Given the description of an element on the screen output the (x, y) to click on. 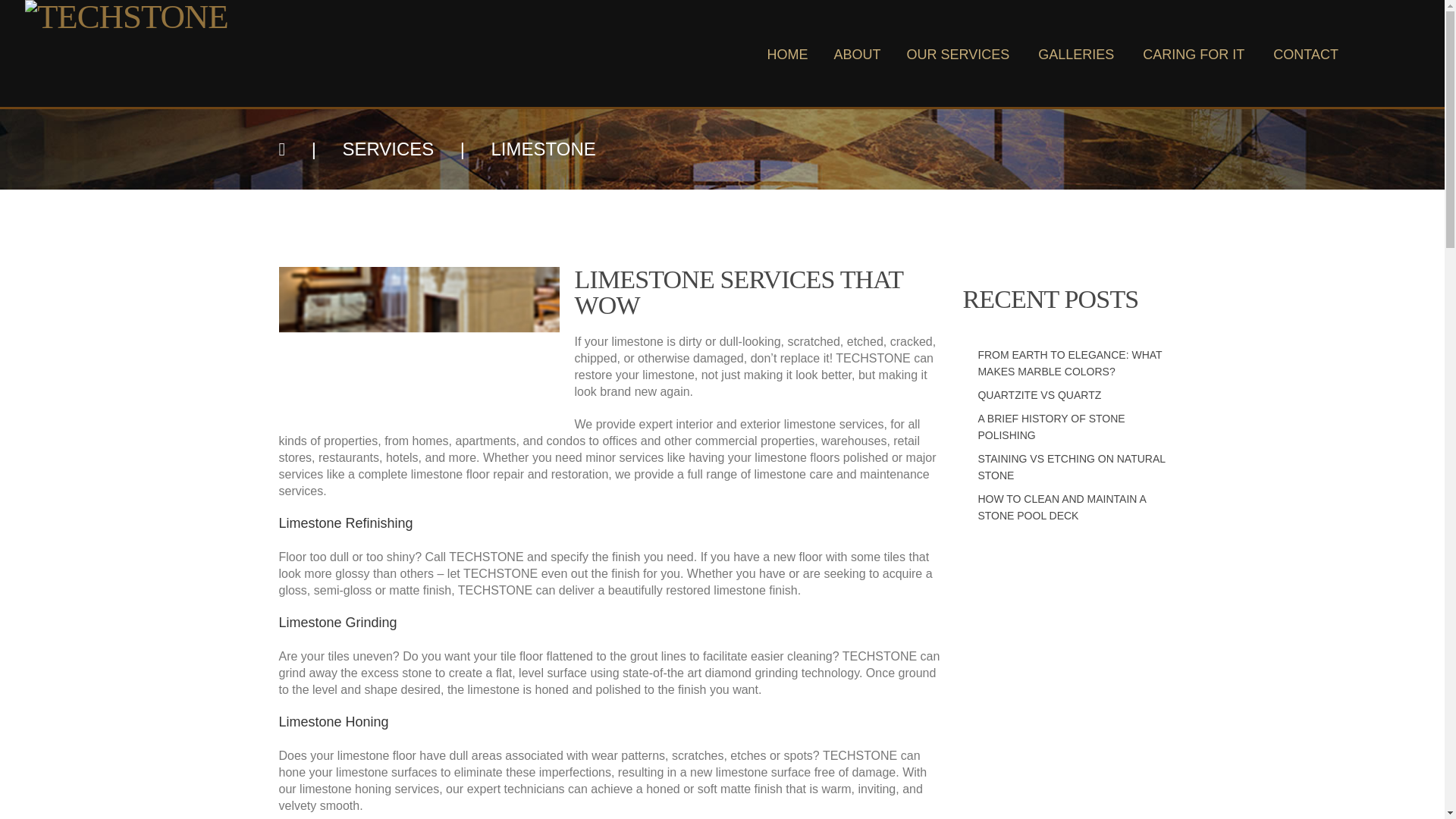
SERVICES (387, 148)
OUR SERVICES (959, 53)
Permanent link to A Brief History of Stone Polishing (1050, 426)
CONTACT (1305, 53)
CARING FOR IT (1194, 53)
Permanent link to Quartzite vs Quartz (1038, 395)
drawing room (419, 345)
GALLERIES (1077, 53)
HOME (787, 53)
ABOUT (857, 53)
Permanent link to Staining vs Etching on Natural Stone (1070, 466)
Services (387, 148)
